Given the description of an element on the screen output the (x, y) to click on. 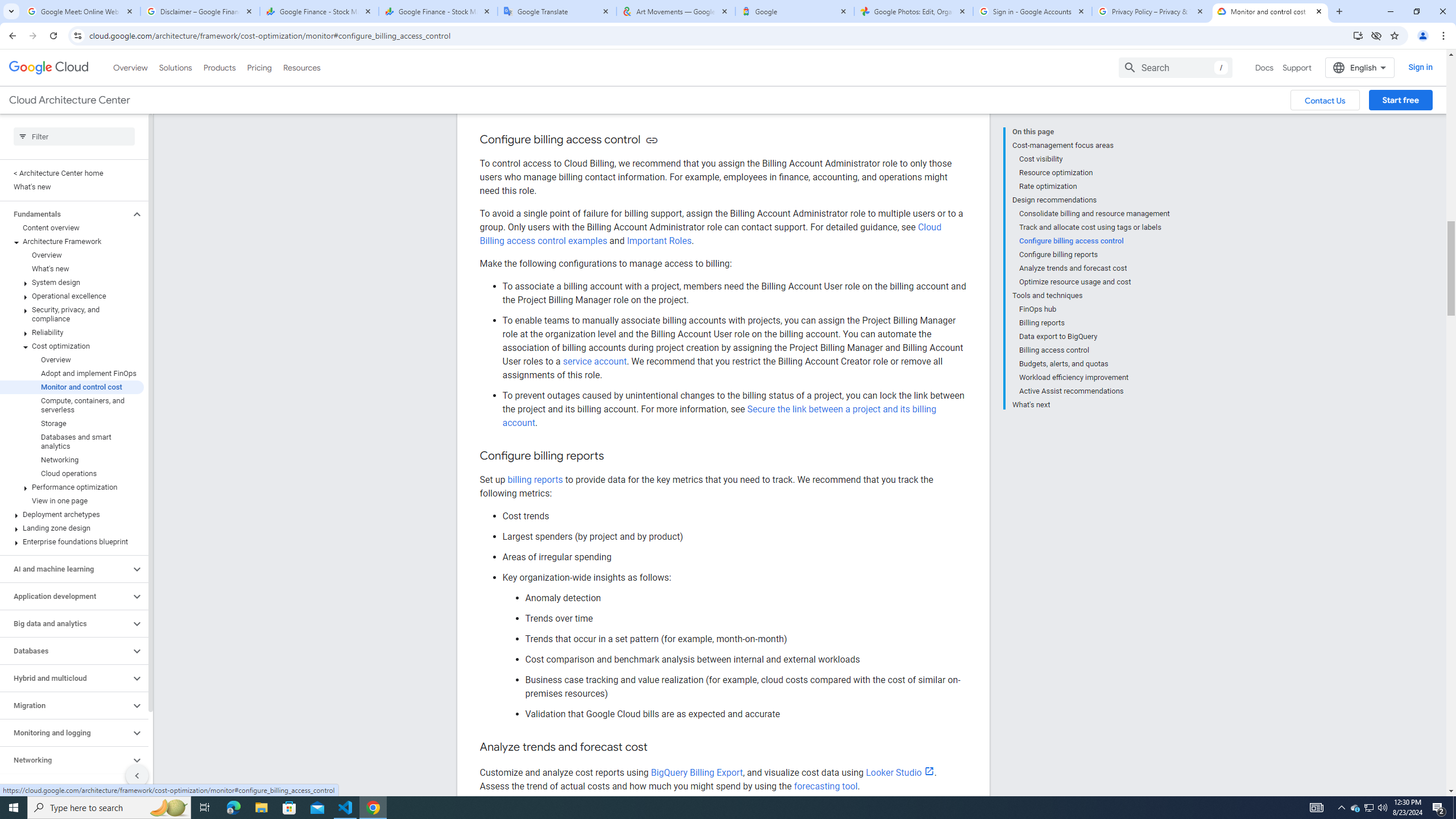
Google (794, 11)
Optimize resource usage and cost (1094, 282)
Solutions (175, 67)
Landing zone design (72, 527)
What's next (1090, 403)
Products (218, 67)
Rate optimization (1094, 186)
Resources (301, 67)
Budgets, alerts, and quotas (1094, 364)
What's new (72, 269)
Adopt and implement FinOps (72, 373)
